Given the description of an element on the screen output the (x, y) to click on. 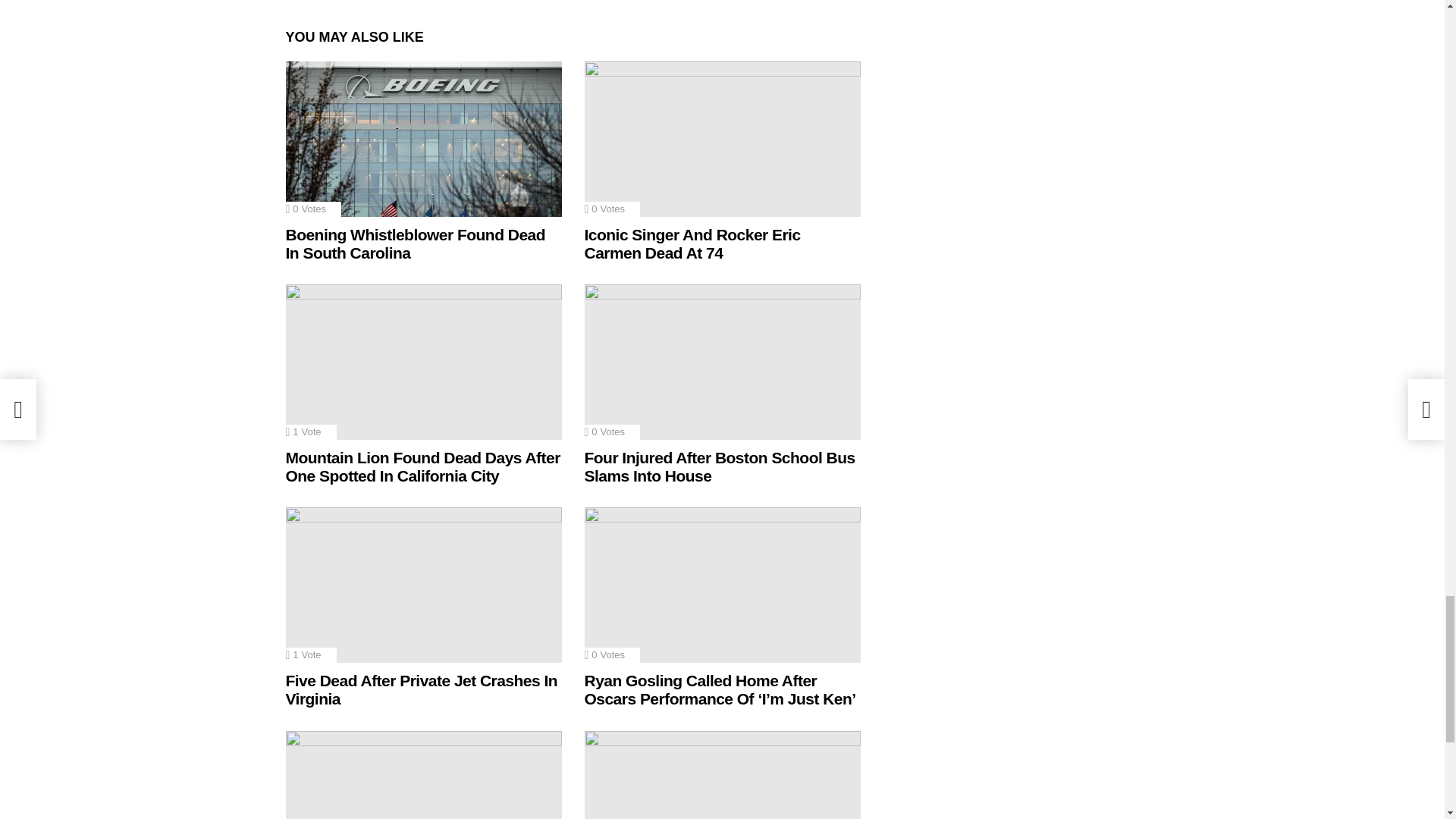
Boening Whistleblower Found Dead In South Carolina (422, 139)
Four Injured After Boston School Bus Slams Into House (721, 361)
Five Dead After Private Jet Crashes In Virginia (422, 584)
Iconic Singer And Rocker Eric Carmen Dead At 74 (721, 139)
